Given the description of an element on the screen output the (x, y) to click on. 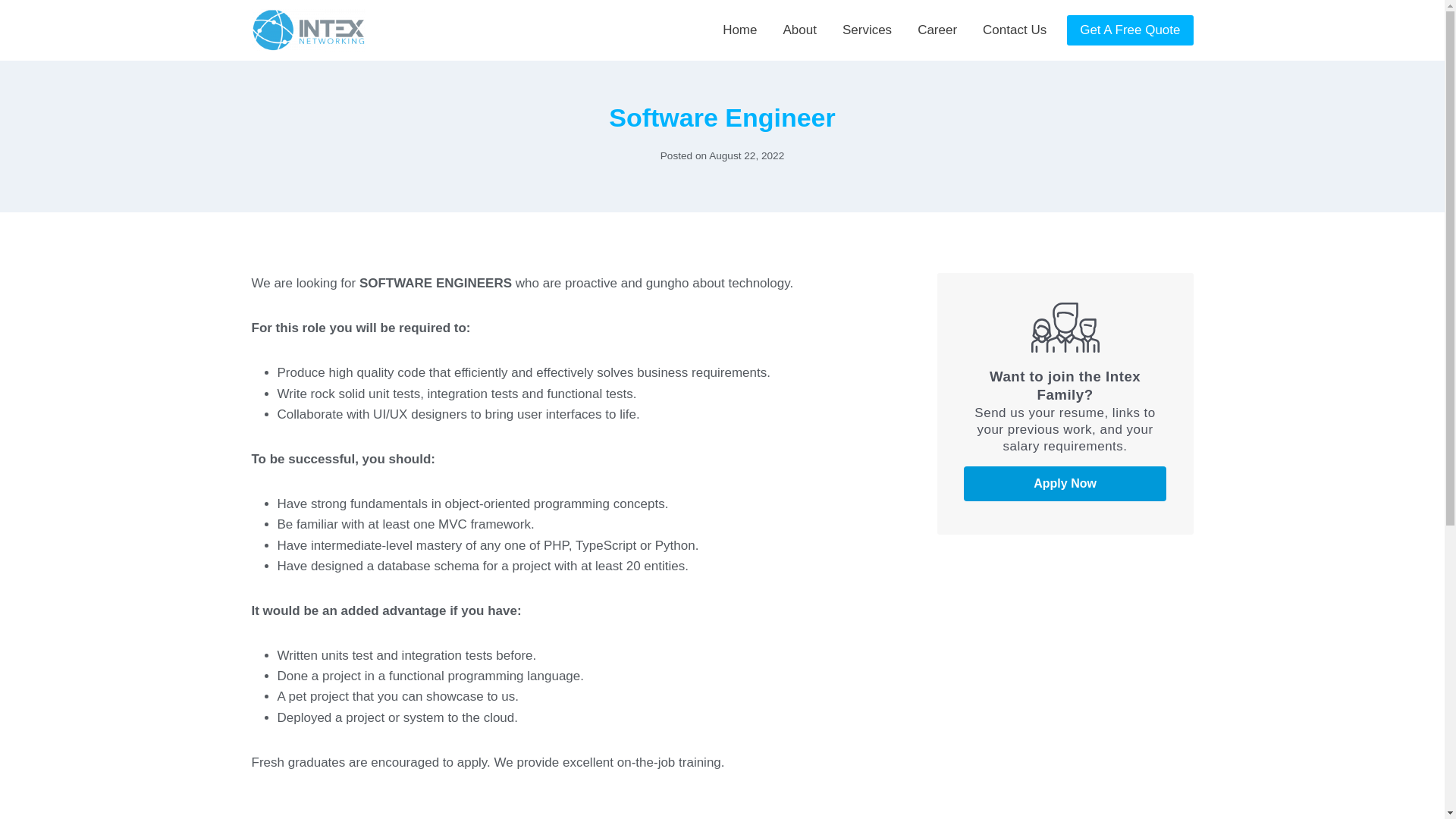
Home (740, 30)
Services (866, 30)
Contact Us (1014, 30)
About (799, 30)
Get A Free Quote (1129, 30)
Apply Now (1064, 483)
Career (936, 30)
